Given the description of an element on the screen output the (x, y) to click on. 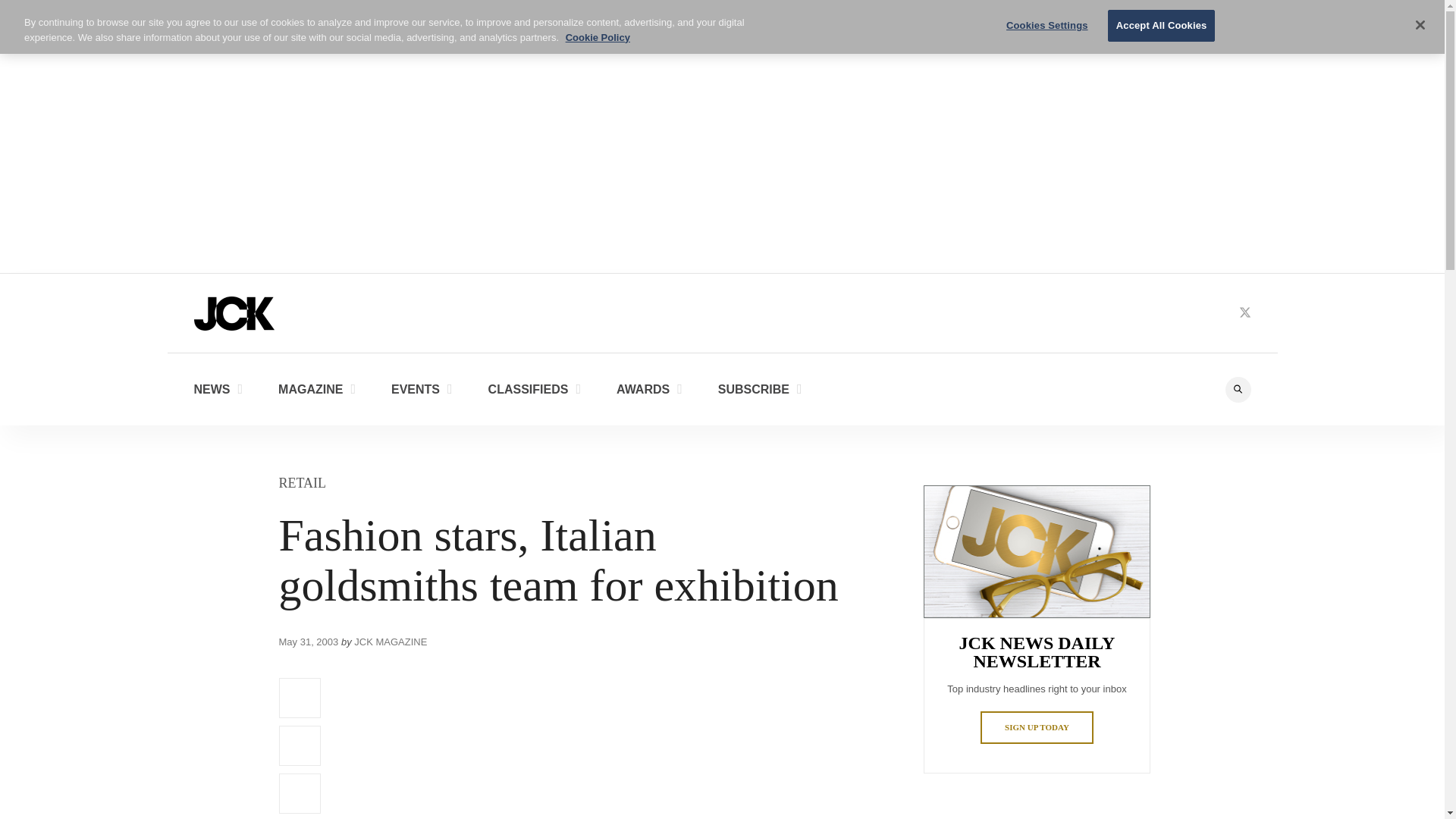
JCK (234, 312)
MAGAZINE (316, 388)
View all posts in Retail (302, 482)
